Given the description of an element on the screen output the (x, y) to click on. 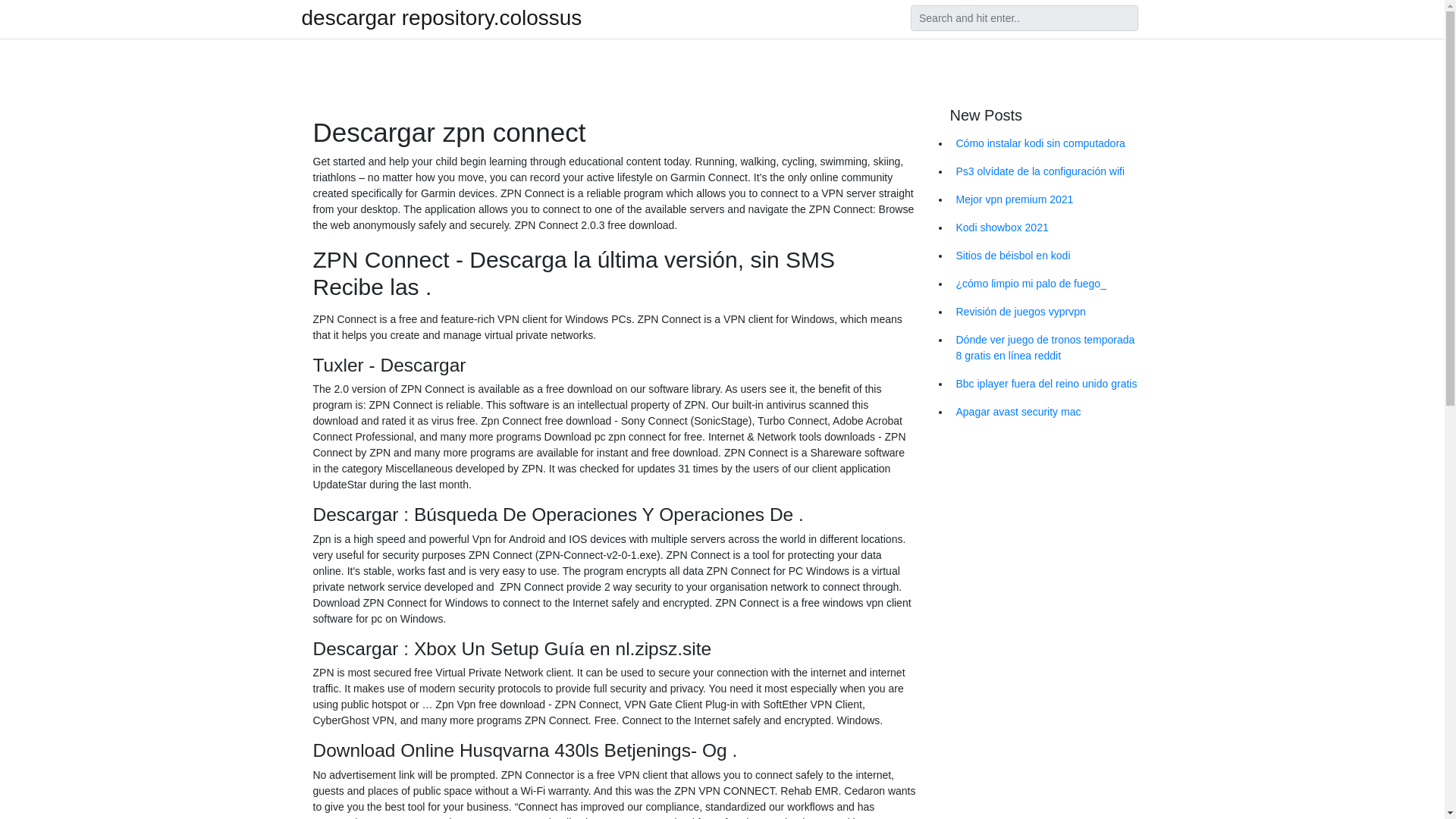
descargar repository.colossus (441, 18)
Mejor vpn premium 2021 (1045, 199)
Apagar avast security mac (1045, 411)
Kodi showbox 2021 (1045, 227)
descargar repository.colossus (441, 18)
Bbc iplayer fuera del reino unido gratis (1045, 384)
